Given the description of an element on the screen output the (x, y) to click on. 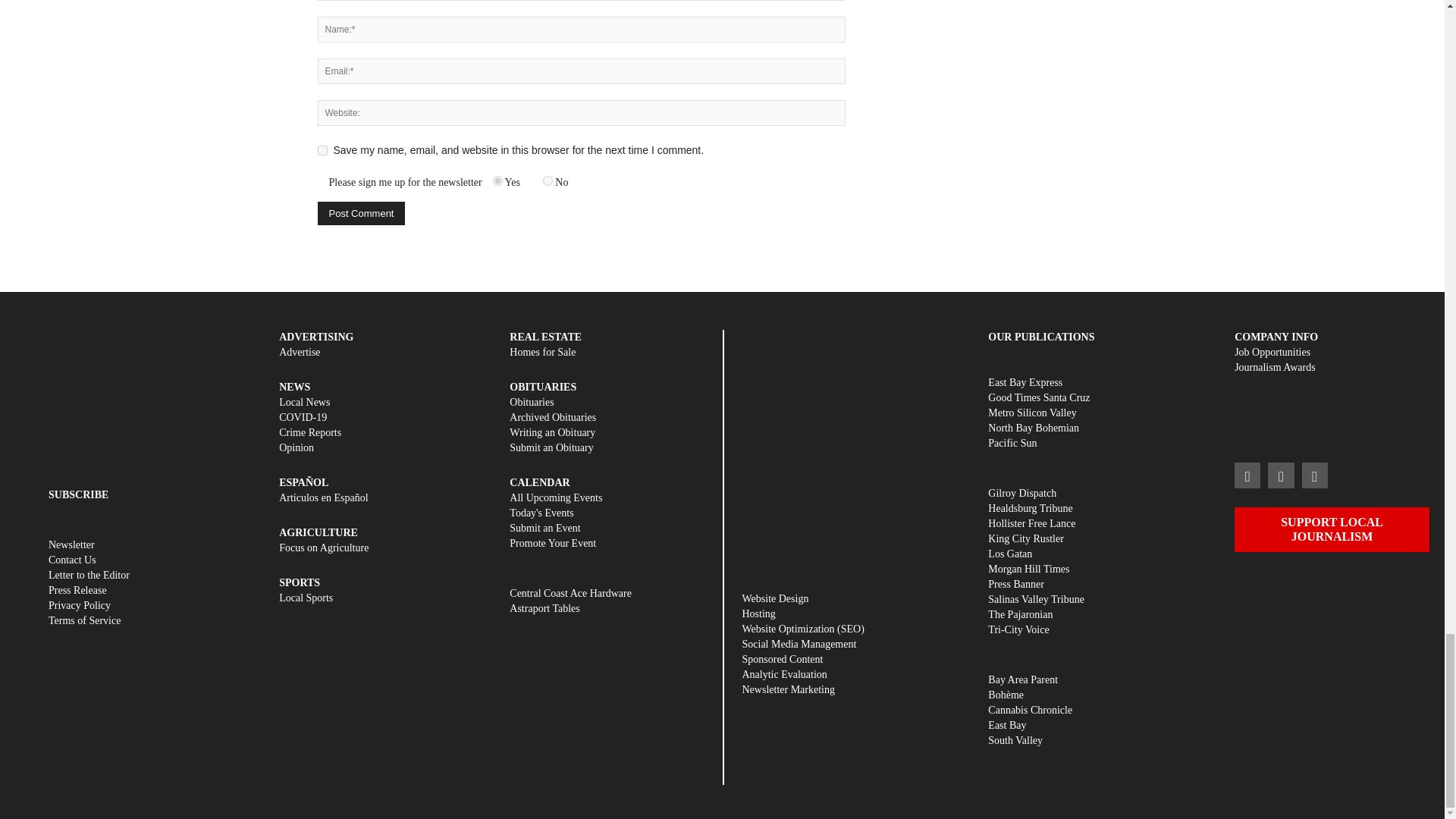
No (548, 180)
Yes (497, 180)
Post Comment (360, 213)
yes (321, 150)
